Given the description of an element on the screen output the (x, y) to click on. 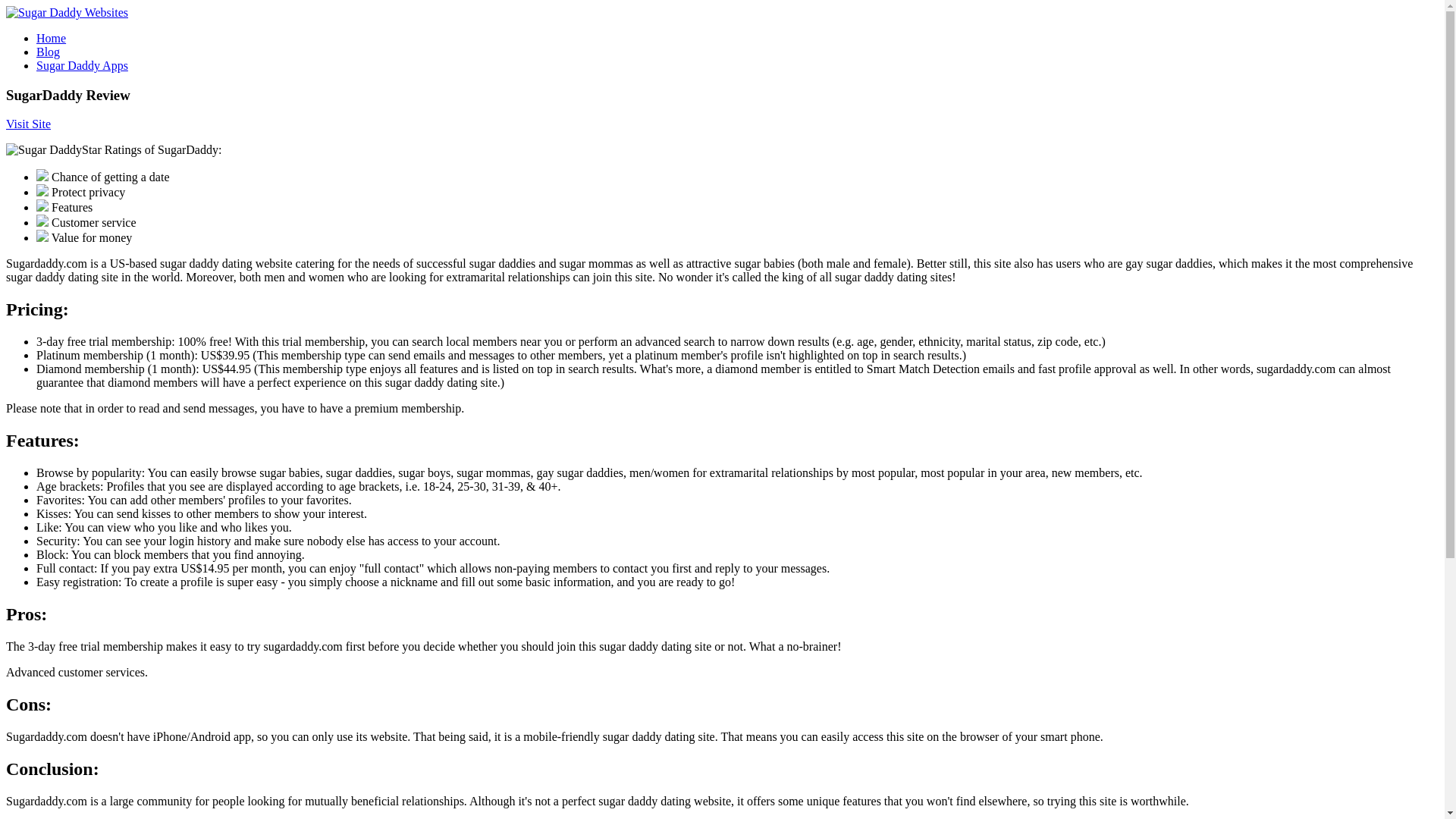
Sugar Daddy Apps (82, 65)
Home (50, 38)
Visit Site (27, 123)
Blog (47, 51)
Visit SugarDaddy (27, 123)
